Given the description of an element on the screen output the (x, y) to click on. 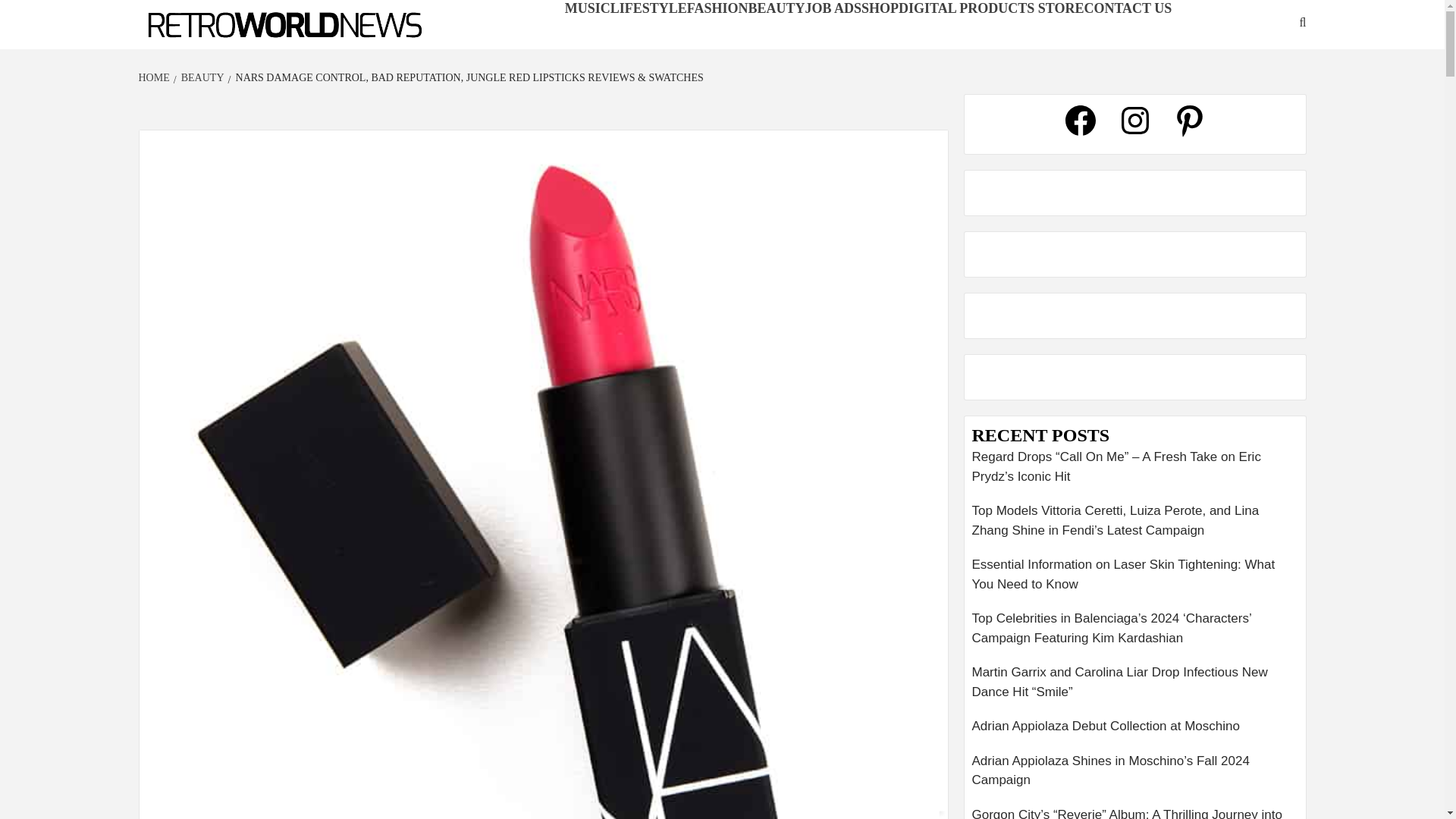
CONTACT US (1127, 7)
DIGITAL PRODUCTS STORE (990, 7)
FASHION (717, 7)
LIFESTYLE (648, 7)
MUSIC (587, 7)
JOB ADS (833, 7)
BEAUTY (200, 77)
BEAUTY (776, 7)
SHOP (879, 7)
HOME (155, 77)
RETROWORLDNEWS (223, 48)
